Given the description of an element on the screen output the (x, y) to click on. 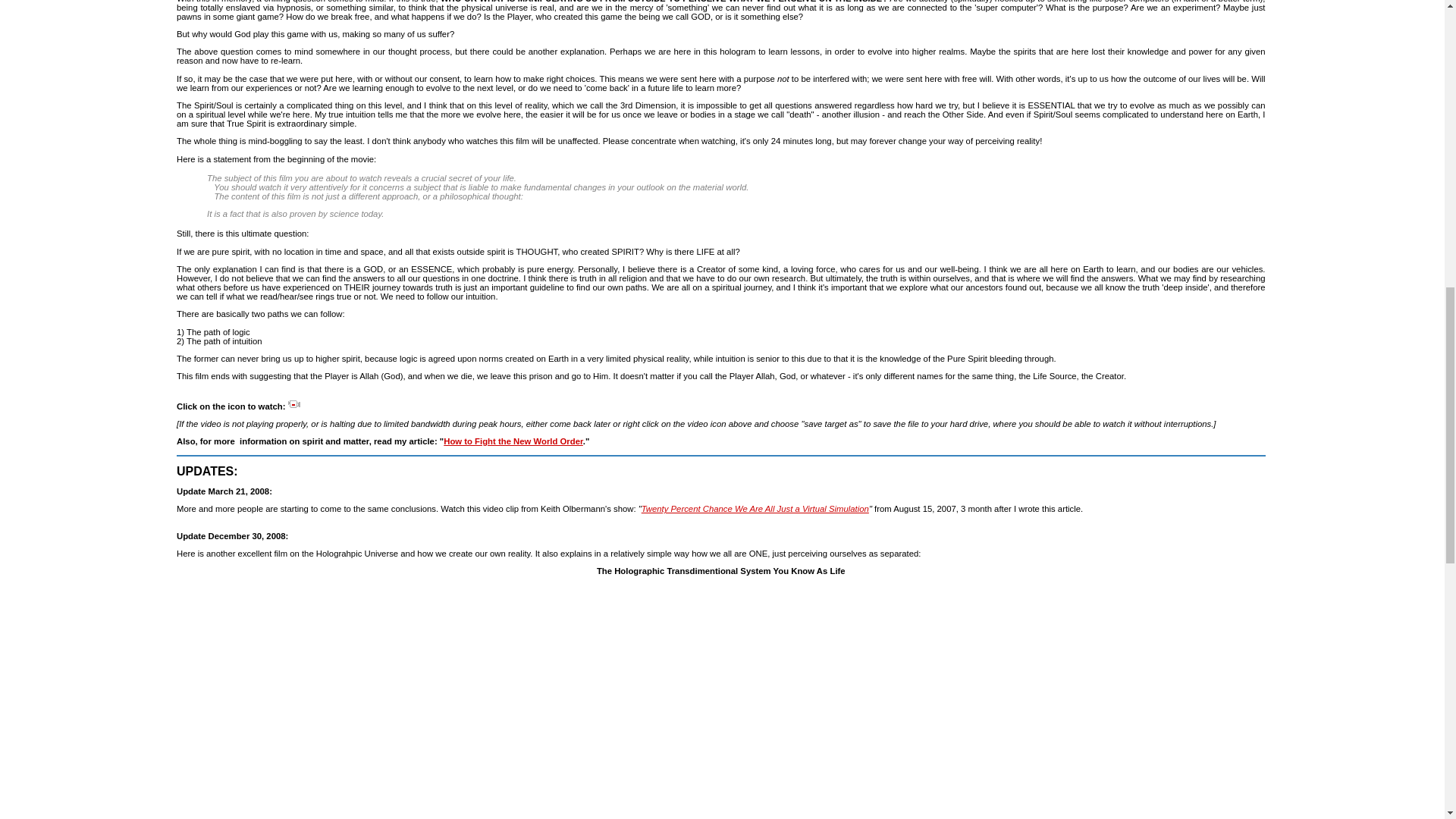
Twenty Percent Chance We Are All Just a Virtual Simulation (755, 508)
How to Fight the New World Order (513, 440)
